Given the description of an element on the screen output the (x, y) to click on. 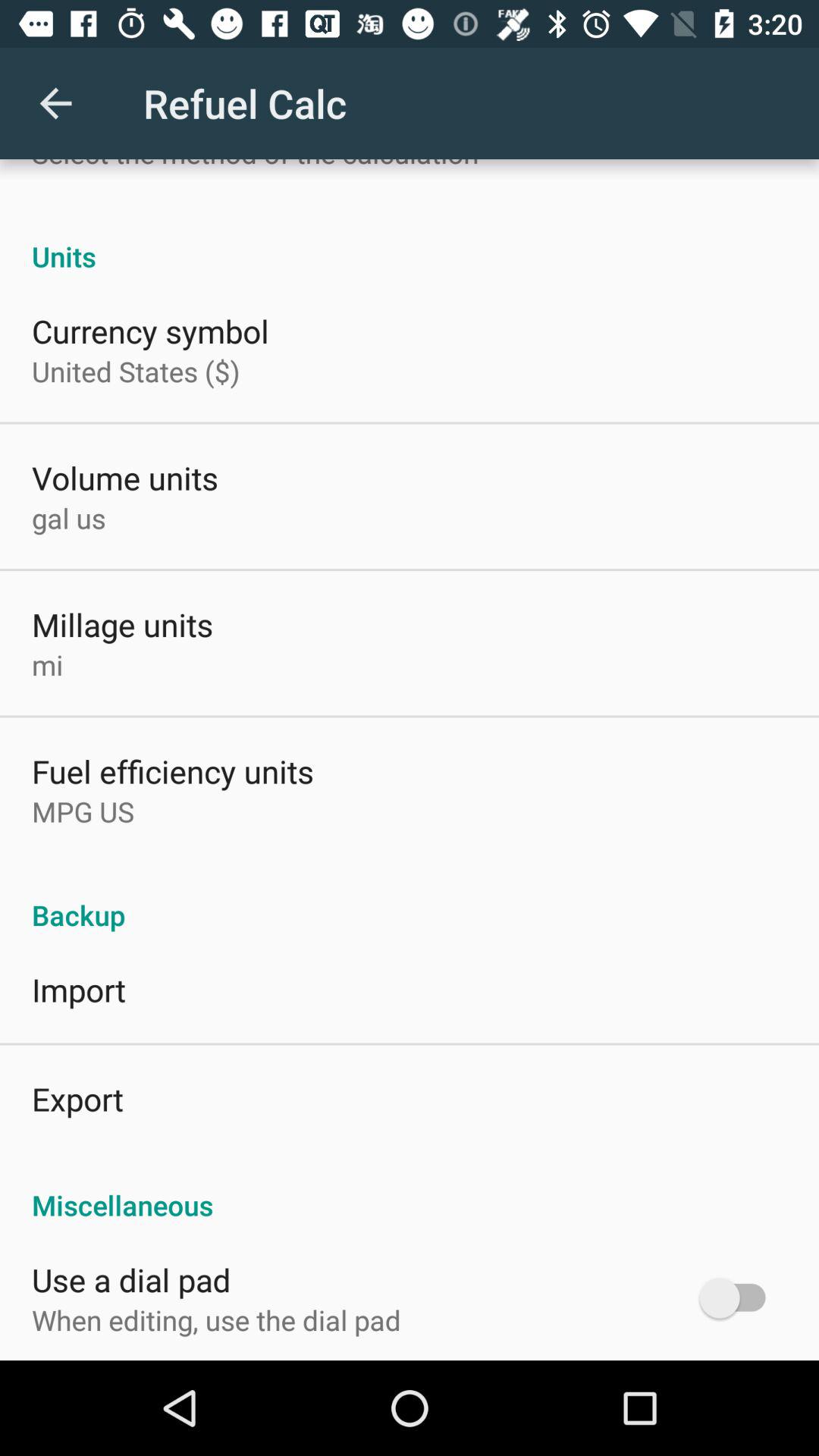
turn on the icon above the fuel efficiency units app (47, 664)
